Given the description of an element on the screen output the (x, y) to click on. 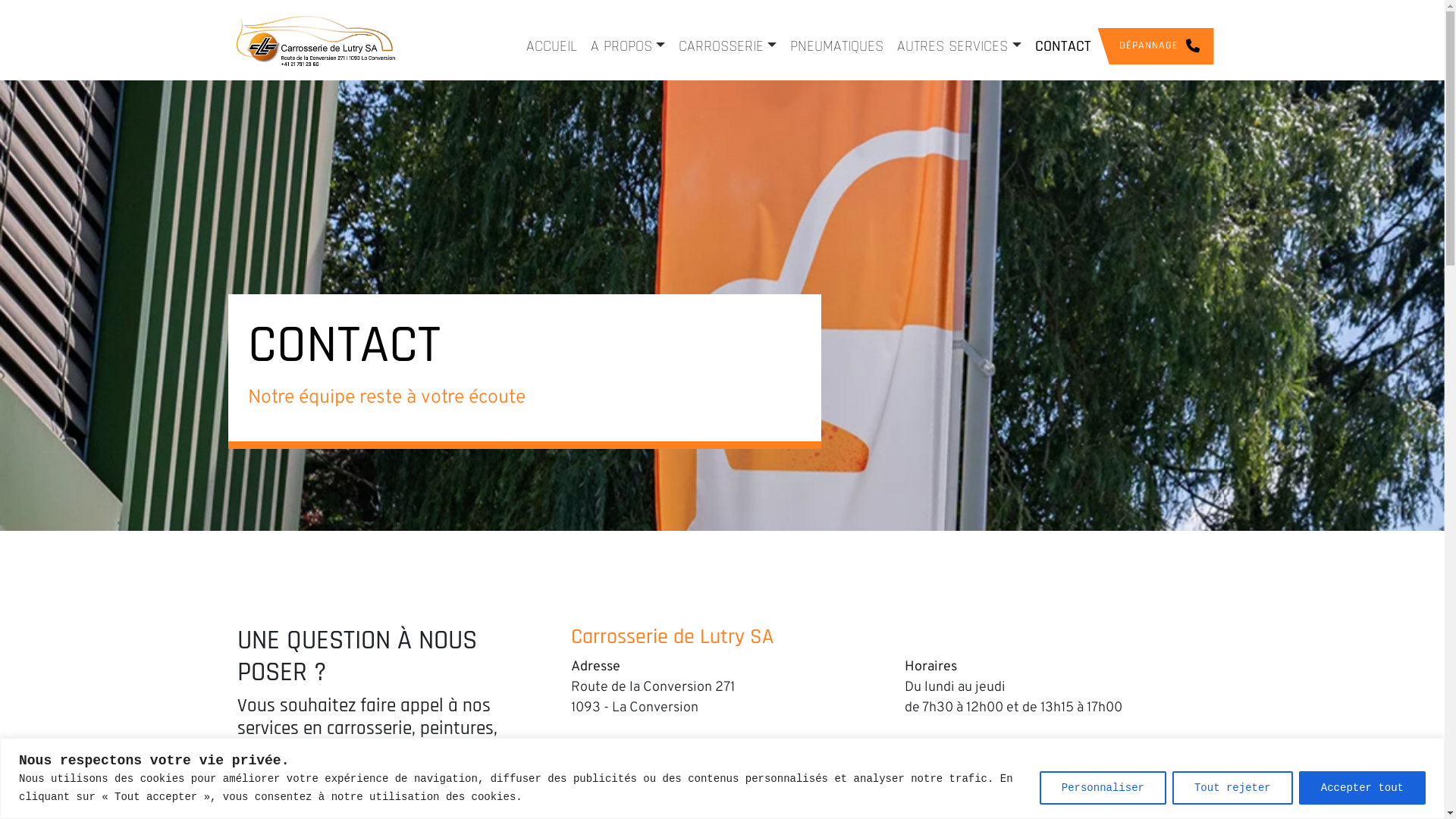
A PROPOS Element type: text (627, 45)
CARROSSERIE Element type: text (727, 45)
Accepter tout Element type: text (1362, 786)
ACCUEIL Element type: text (551, 45)
Tout rejeter Element type: text (1232, 786)
Personnaliser Element type: text (1102, 786)
CONTACT Element type: text (1062, 45)
PNEUMATIQUES Element type: text (836, 45)
AUTRES SERVICES Element type: text (958, 45)
